Given the description of an element on the screen output the (x, y) to click on. 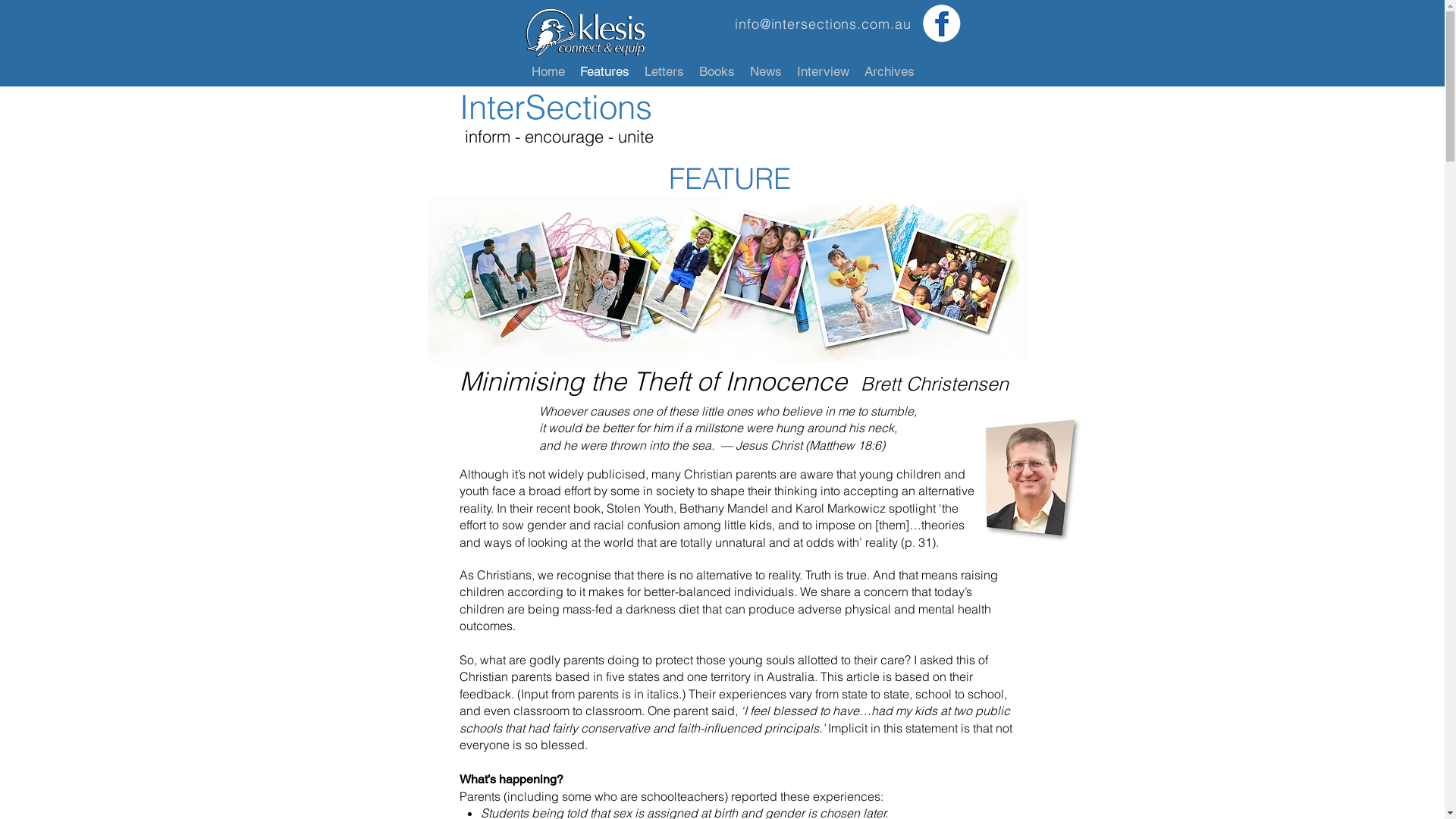
Archives Element type: text (889, 71)
Features Element type: text (603, 71)
Books Element type: text (716, 71)
Letters Element type: text (664, 71)
Interview Element type: text (822, 71)
Home Element type: text (547, 71)
News Element type: text (764, 71)
info@intersections.com.au Element type: text (822, 23)
